Given the description of an element on the screen output the (x, y) to click on. 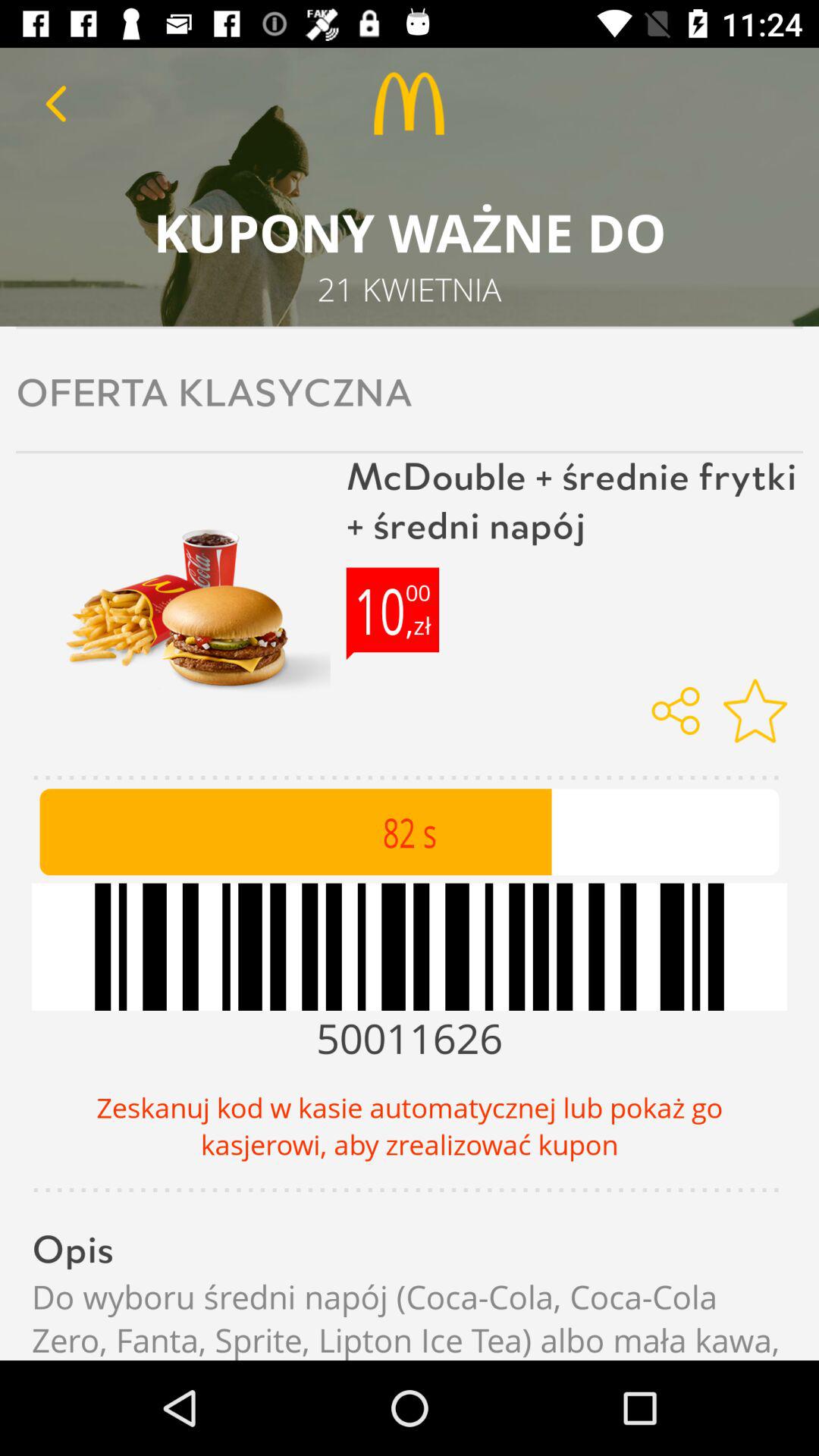
previous button (55, 103)
